Given the description of an element on the screen output the (x, y) to click on. 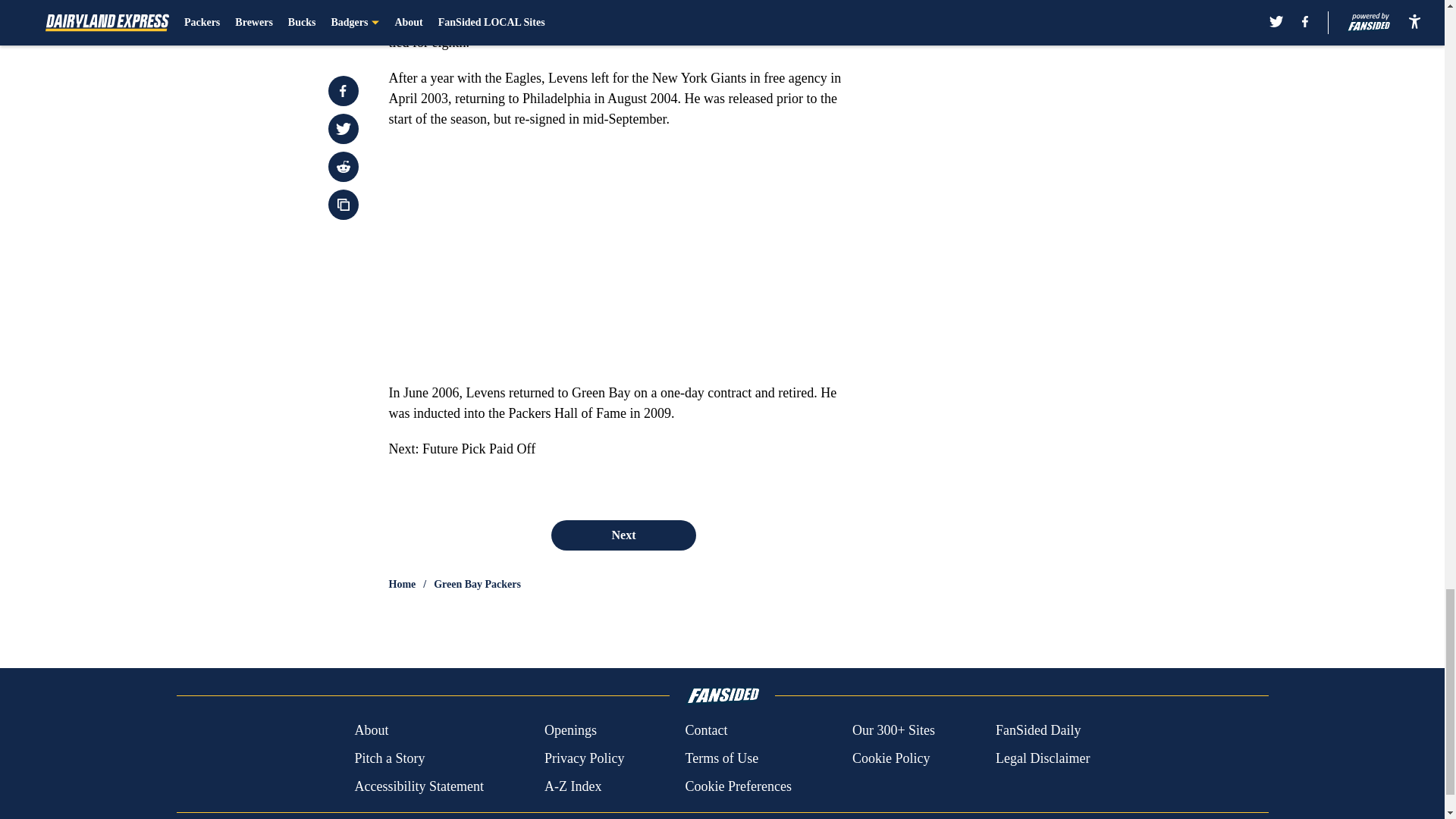
Cookie Policy (890, 758)
Next (622, 535)
Openings (570, 730)
Green Bay Packers (477, 584)
Home (401, 584)
Privacy Policy (584, 758)
FanSided Daily (1038, 730)
Terms of Use (721, 758)
Pitch a Story (389, 758)
Contact (705, 730)
